Given the description of an element on the screen output the (x, y) to click on. 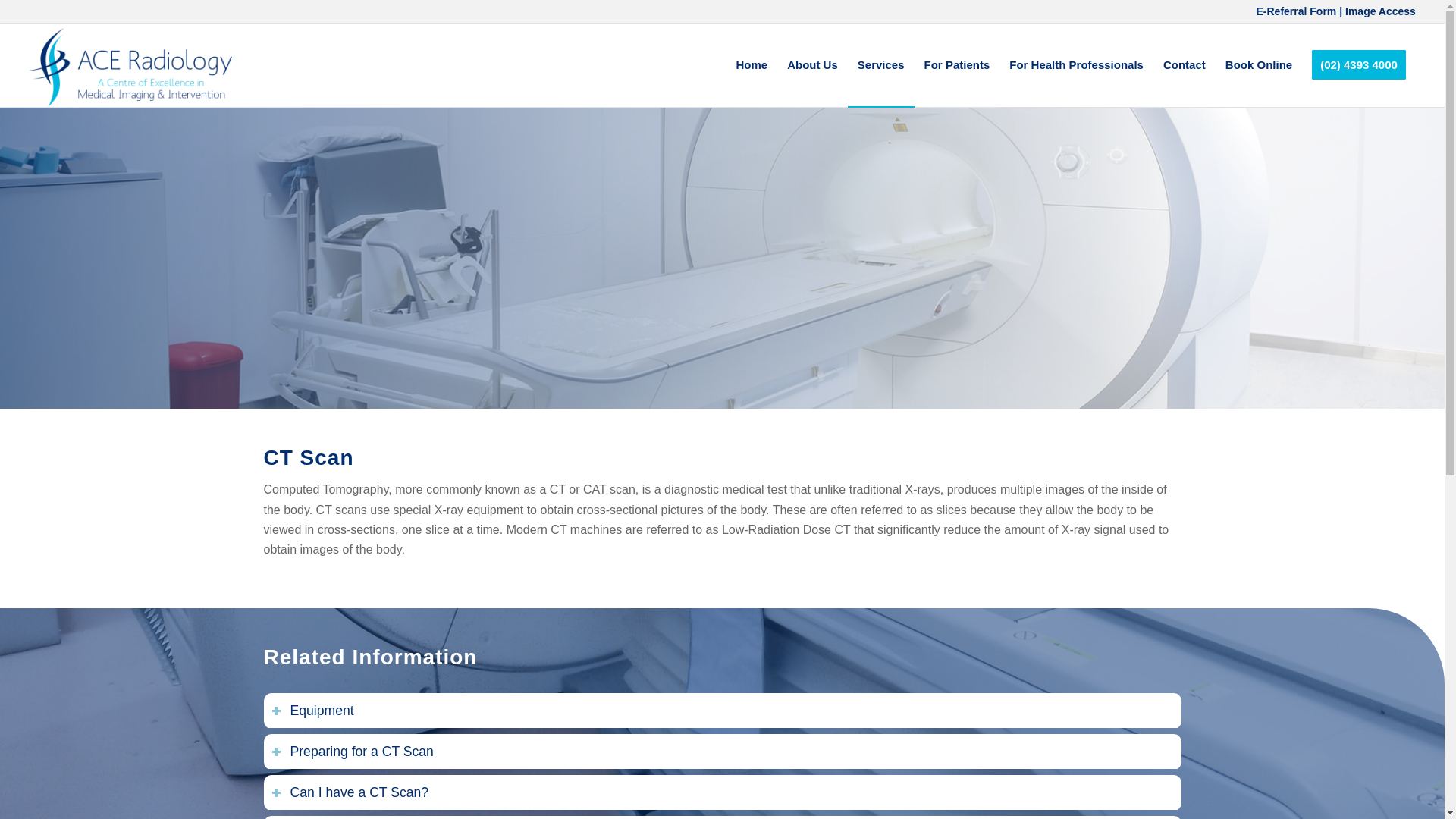
Image Access (1380, 10)
For Health Professionals (1075, 65)
Book Online (1258, 65)
For Patients (957, 65)
E-Referral Form (1295, 10)
